Given the description of an element on the screen output the (x, y) to click on. 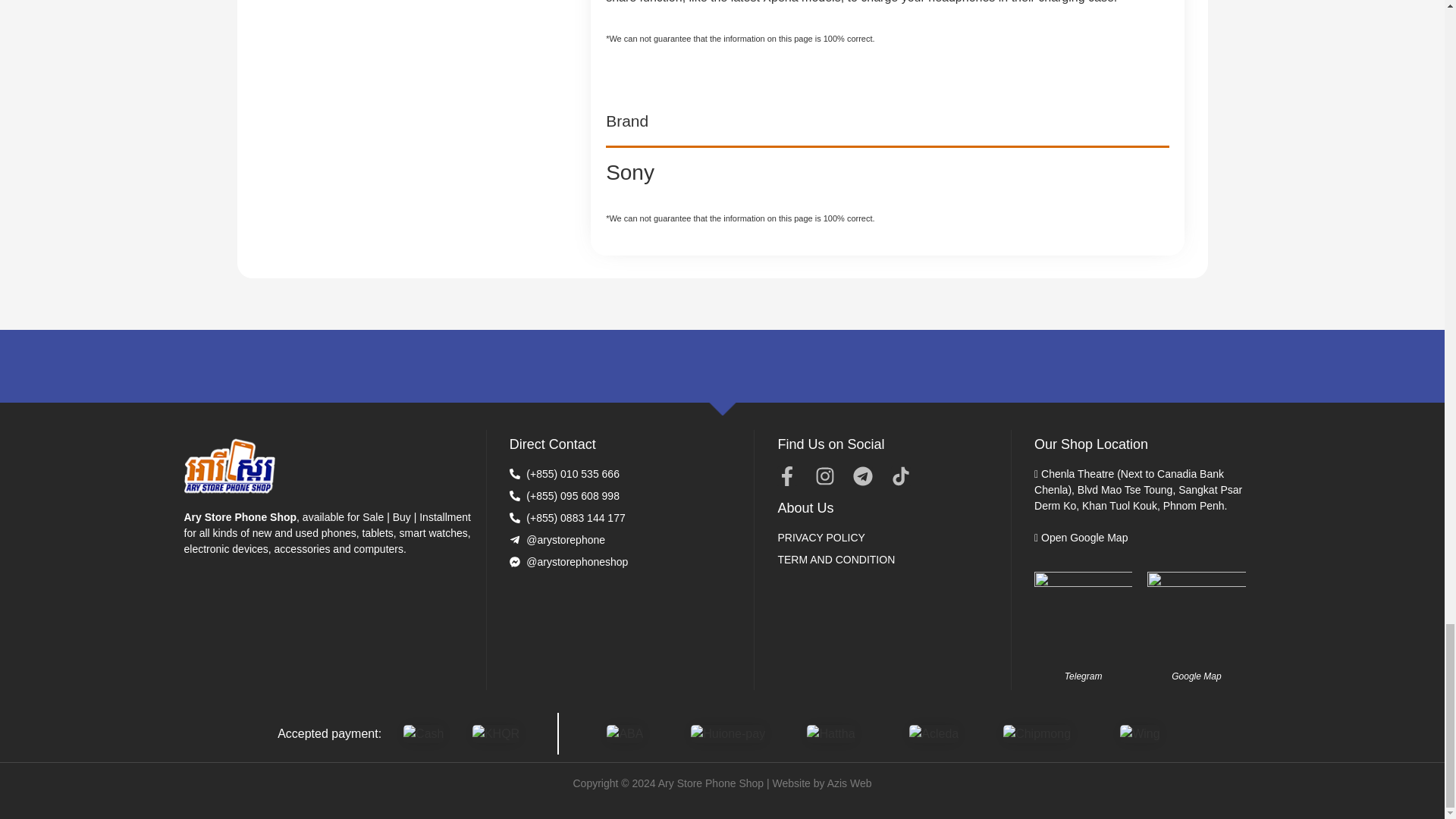
ABA (625, 733)
Wing (1138, 733)
KHQR (495, 733)
Huione-pay (727, 733)
Hattha (830, 733)
Acleda (933, 733)
Chipmong (1036, 733)
Cash (423, 733)
